Given the description of an element on the screen output the (x, y) to click on. 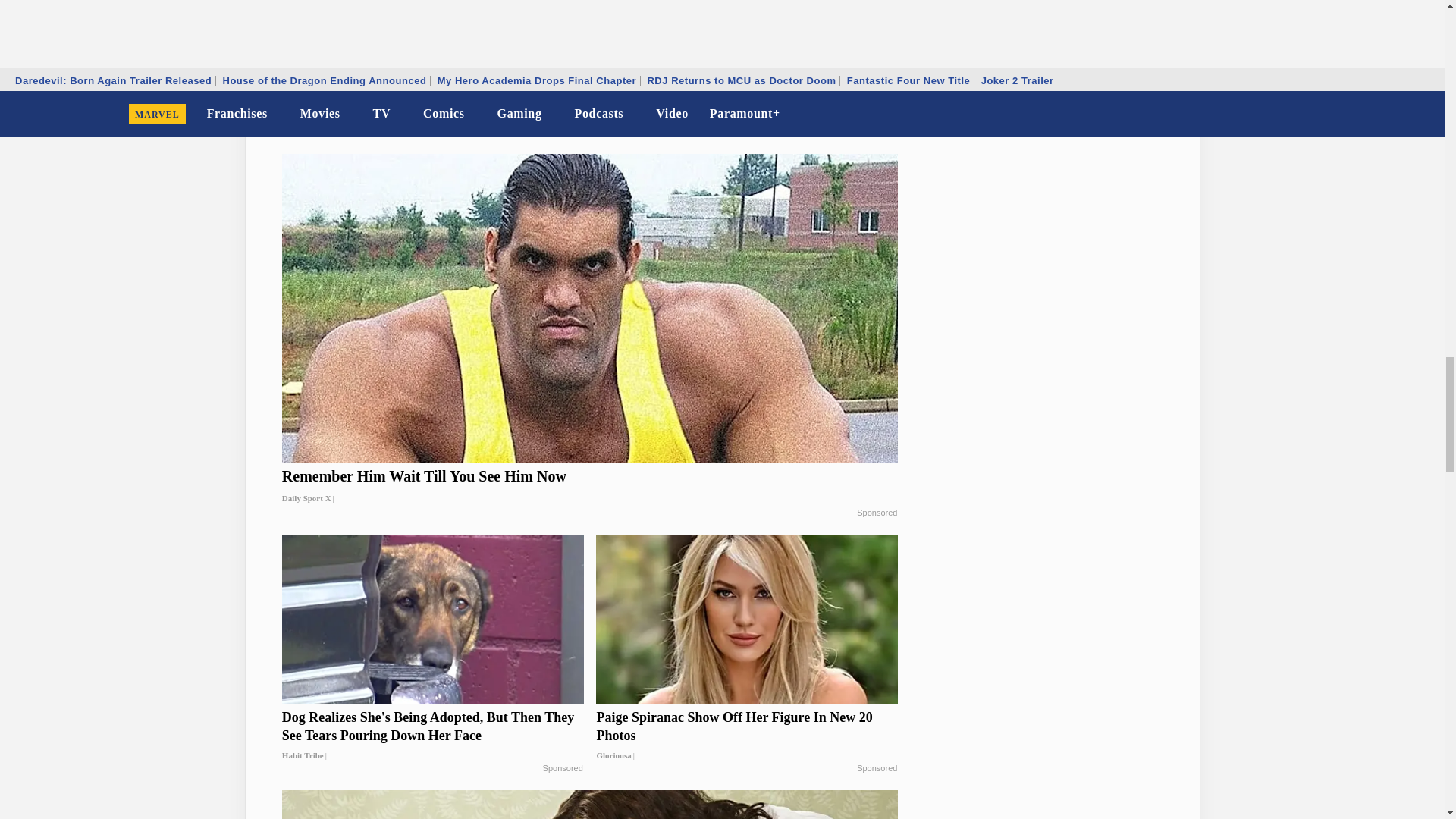
Good to know: How to open a can without a can opener (432, 83)
Remember Him Wait Till You See Him Now (590, 487)
